Given the description of an element on the screen output the (x, y) to click on. 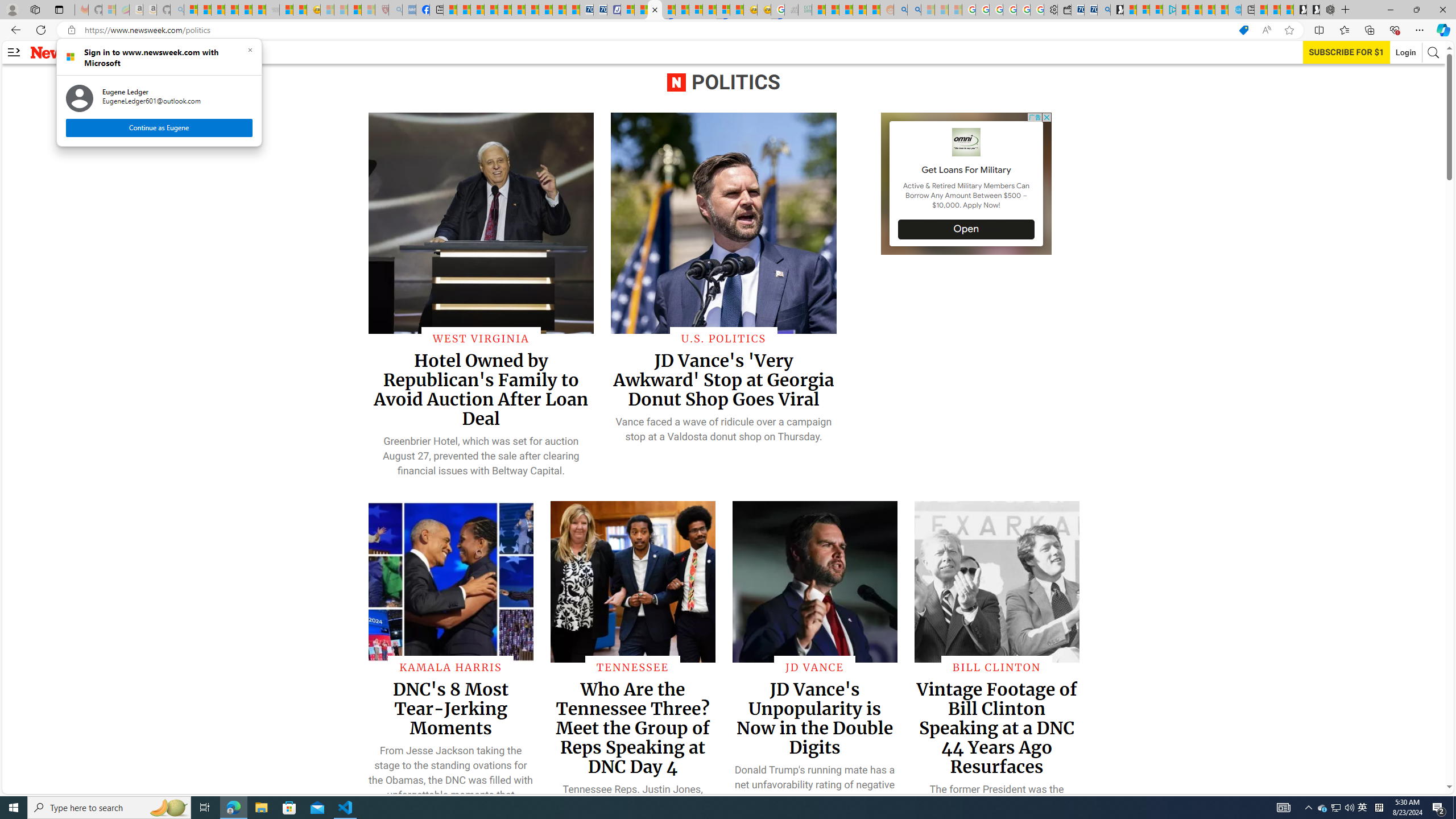
BILL CLINTON (996, 667)
Class: ns-vrsze-e-5 (966, 142)
Task View (204, 807)
12 Popular Science Lies that Must be Corrected - Sleeping (368, 9)
